Given the description of an element on the screen output the (x, y) to click on. 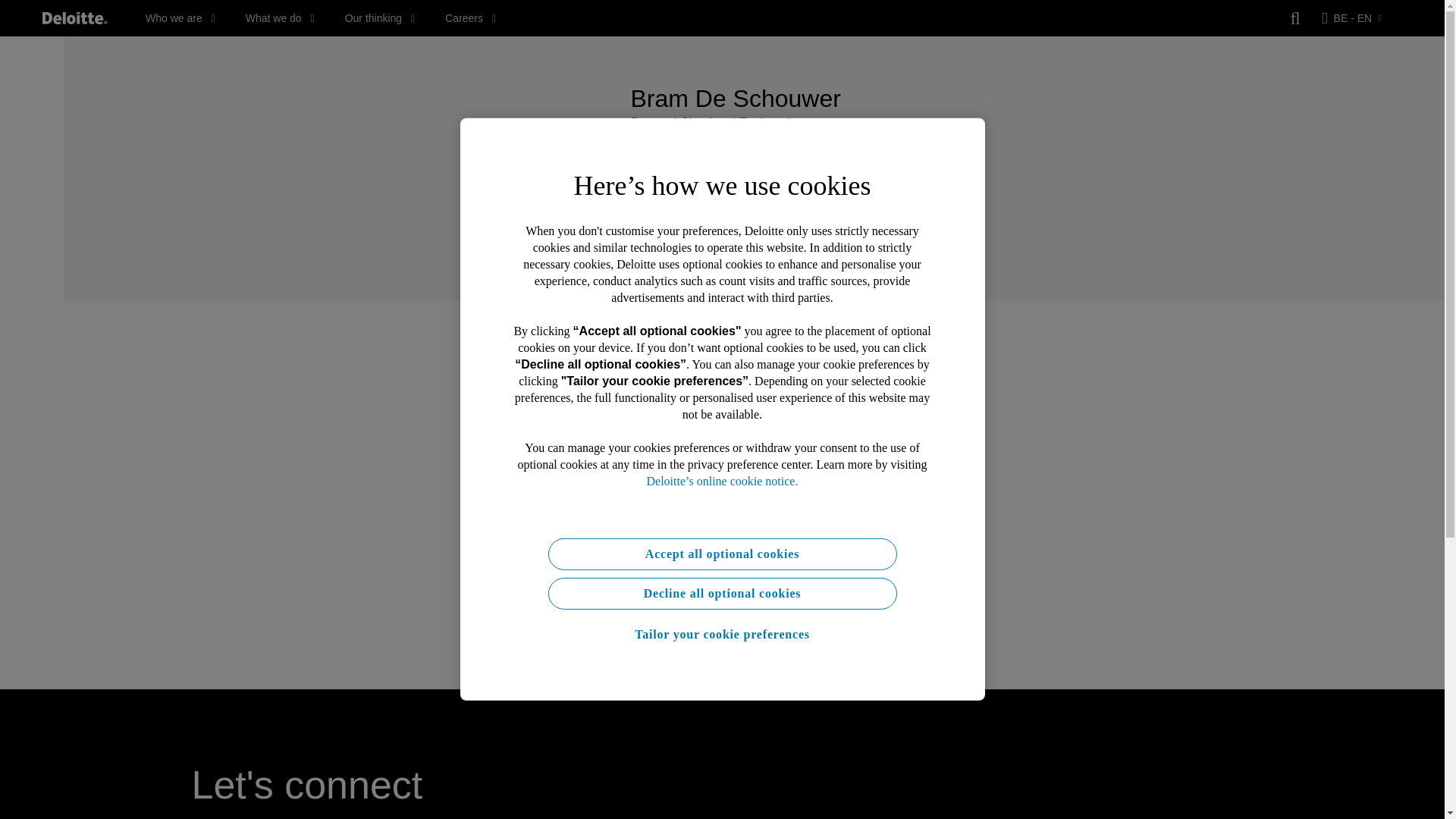
Careers (470, 18)
Who we are (180, 18)
Our thinking (379, 18)
What we do (280, 18)
connect via linkedin (635, 183)
Deloitte (74, 18)
